Given the description of an element on the screen output the (x, y) to click on. 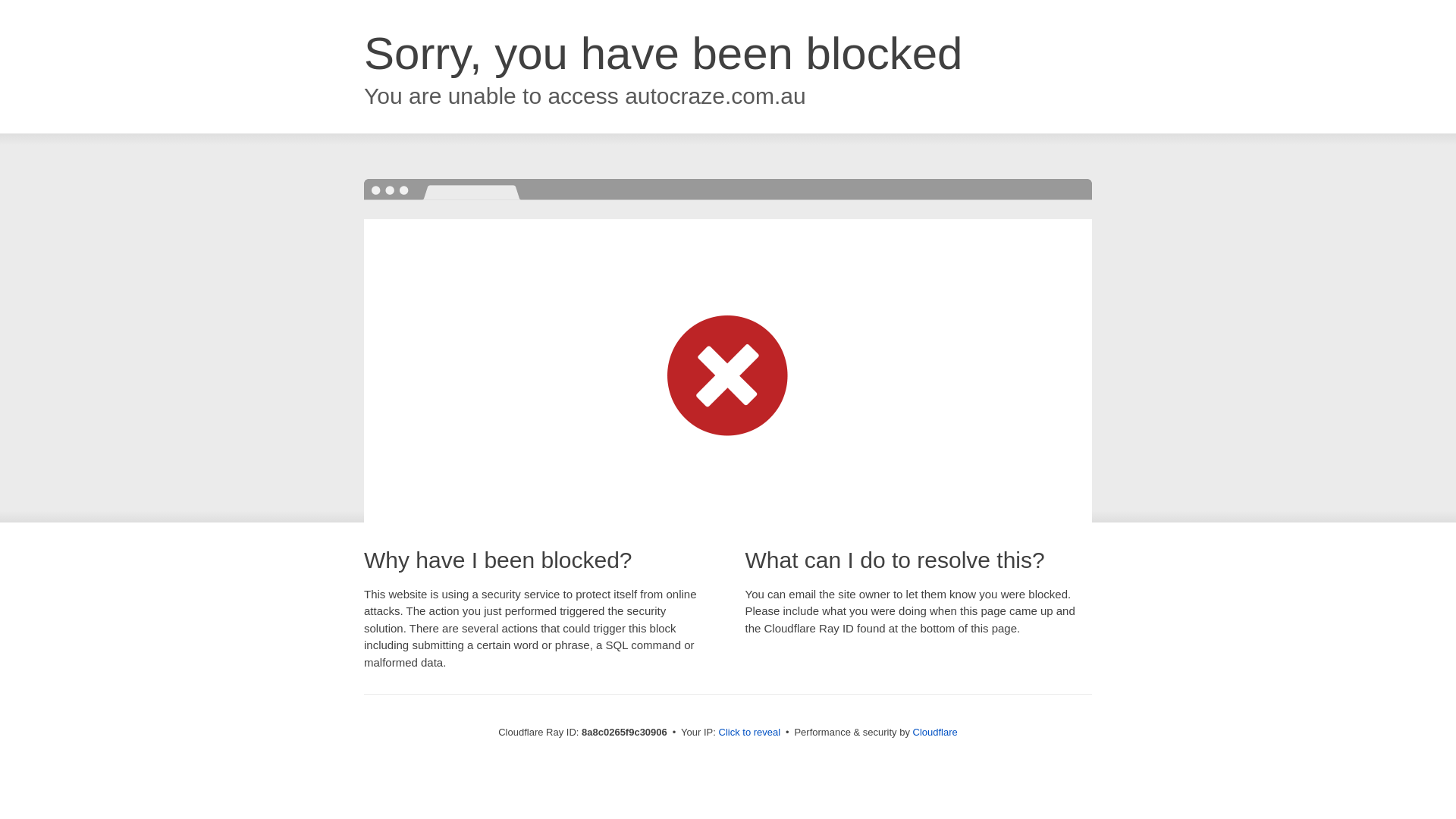
Cloudflare (935, 731)
Click to reveal (749, 732)
